Given the description of an element on the screen output the (x, y) to click on. 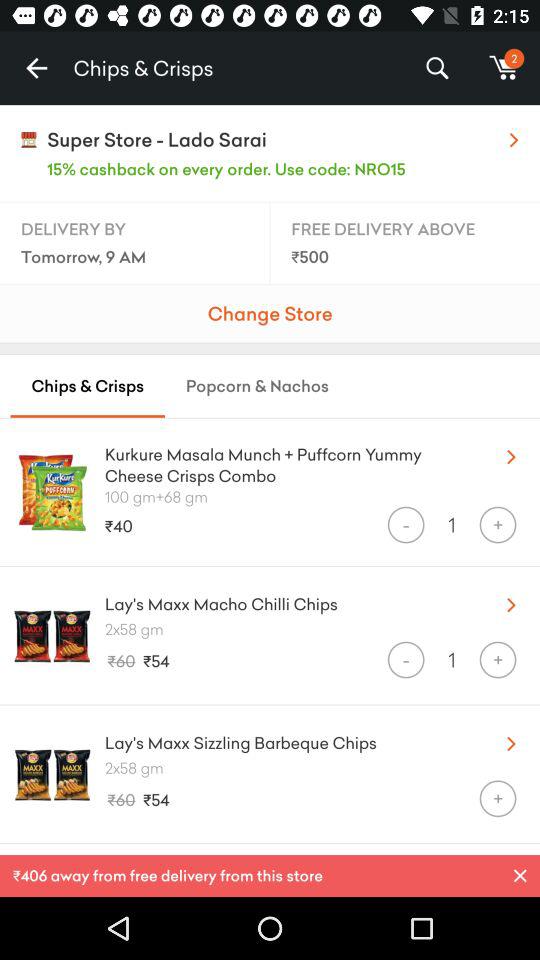
tap the icon to the right of 1 item (497, 524)
